Given the description of an element on the screen output the (x, y) to click on. 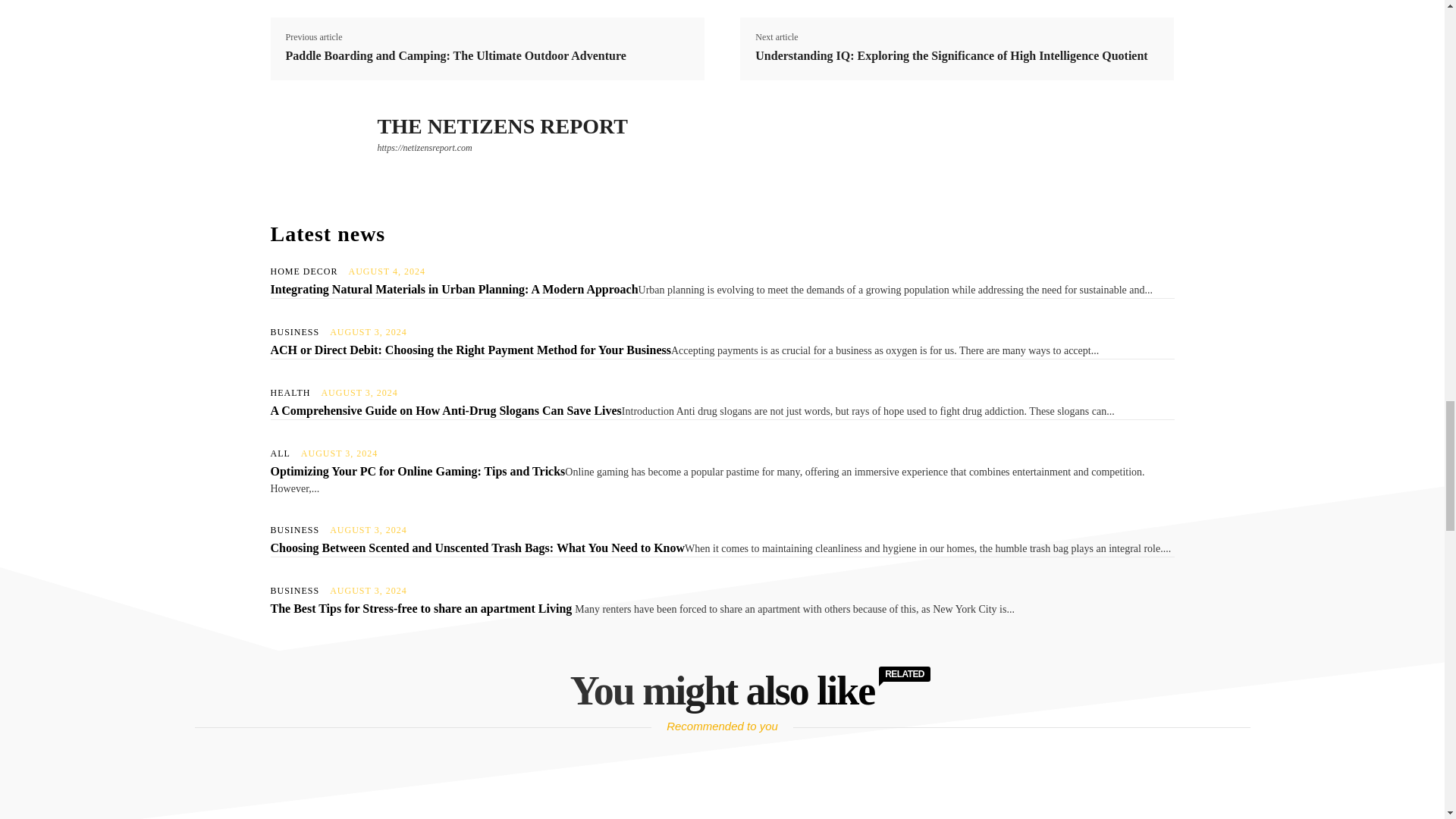
THE NETIZENS REPORT (502, 125)
Paddle Boarding and Camping: The Ultimate Outdoor Adventure (455, 55)
HOME DECOR (303, 271)
THE NETIZENS REPORT (315, 149)
